Given the description of an element on the screen output the (x, y) to click on. 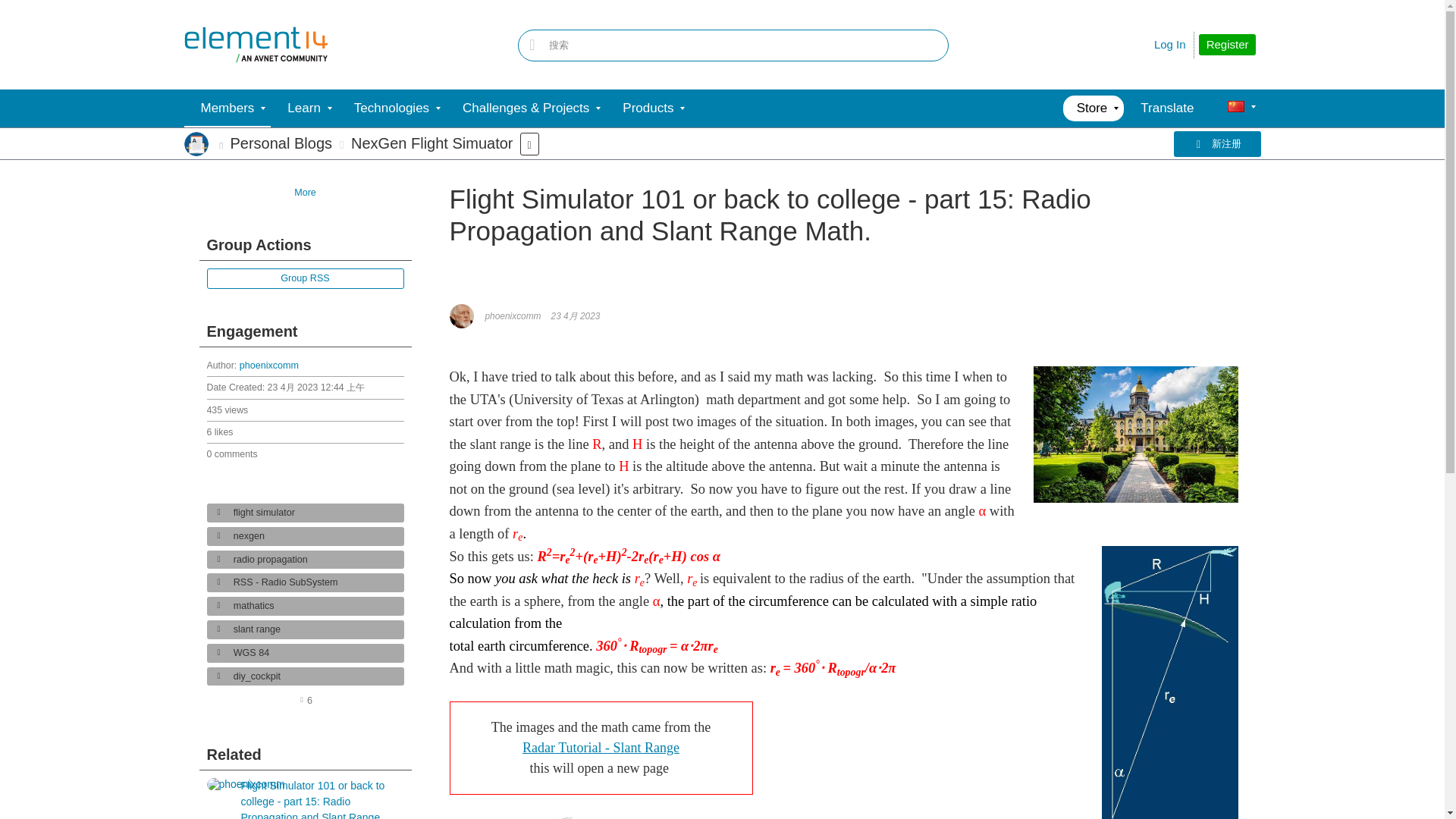
Register (1226, 44)
Log In (1170, 44)
Members (226, 108)
Log In (1170, 44)
Learn (303, 108)
Technologies (391, 108)
Register (1226, 44)
